Given the description of an element on the screen output the (x, y) to click on. 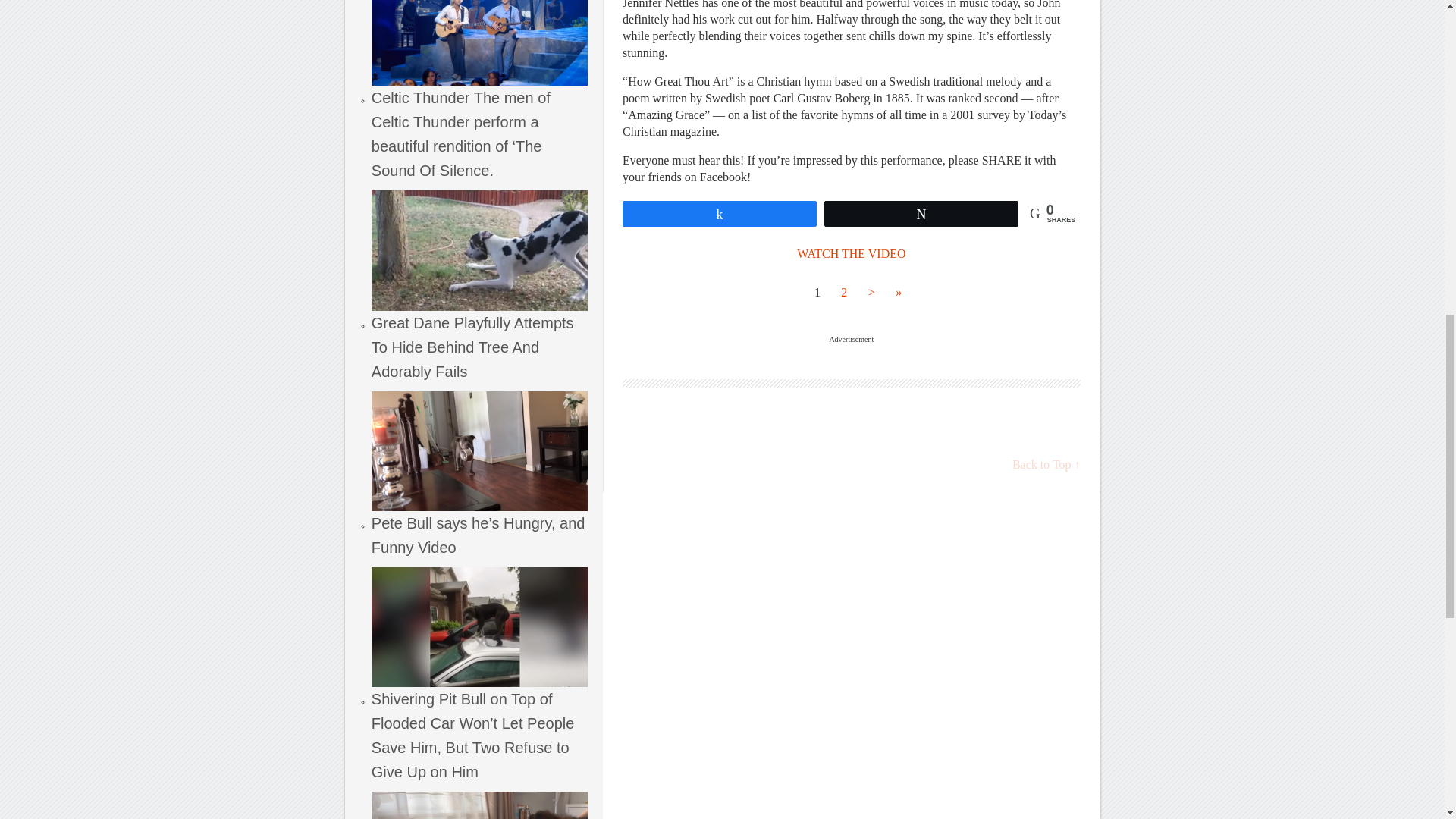
WATCH THE VIDEO (850, 253)
